Given the description of an element on the screen output the (x, y) to click on. 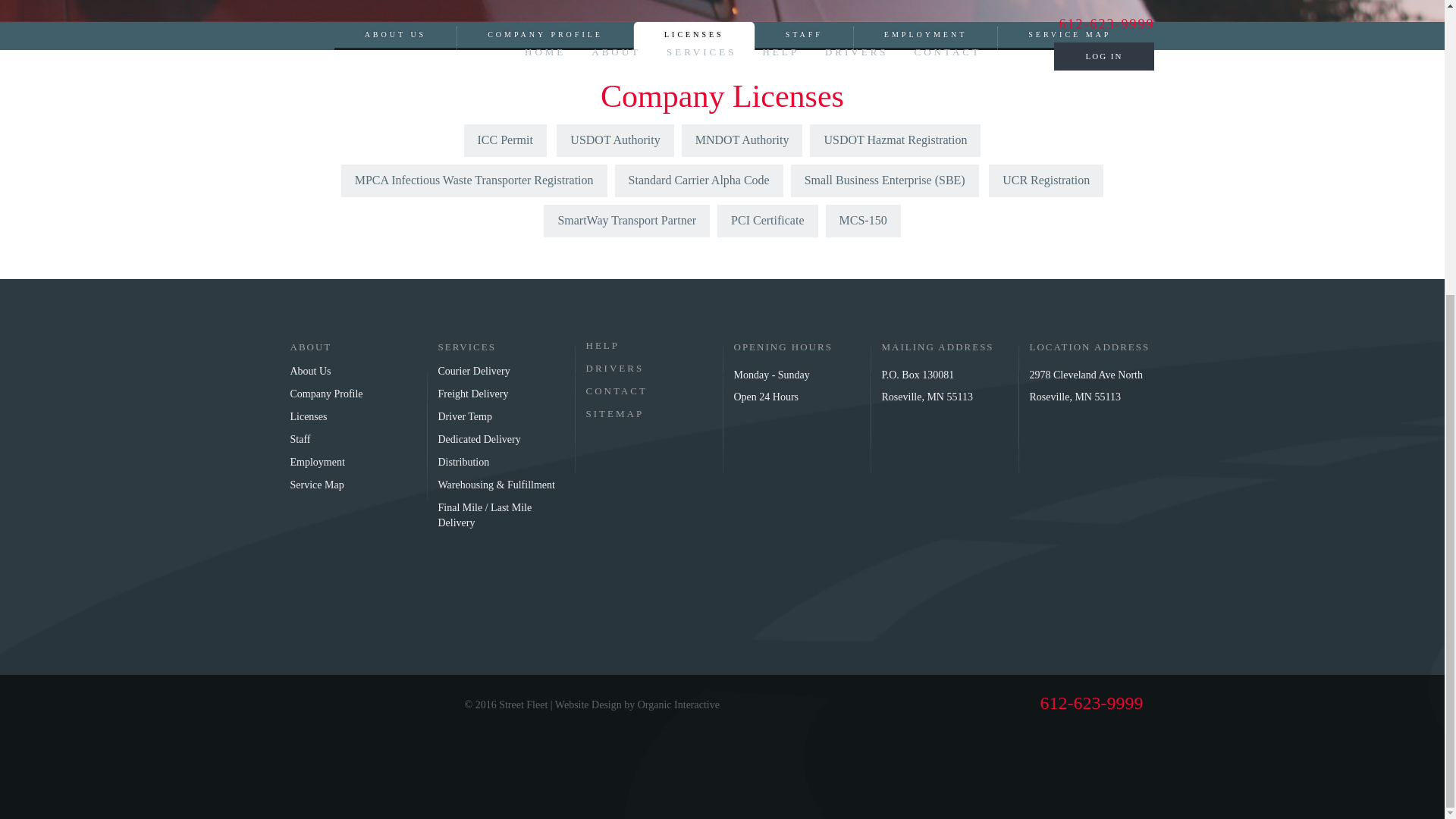
LICENSES (693, 35)
STAFF (804, 35)
SERVICE MAP (1069, 35)
USDOT Authority (614, 140)
ICC Permit (505, 140)
ABOUT US (395, 35)
EMPLOYMENT (925, 35)
COMPANY PROFILE (545, 35)
